Given the description of an element on the screen output the (x, y) to click on. 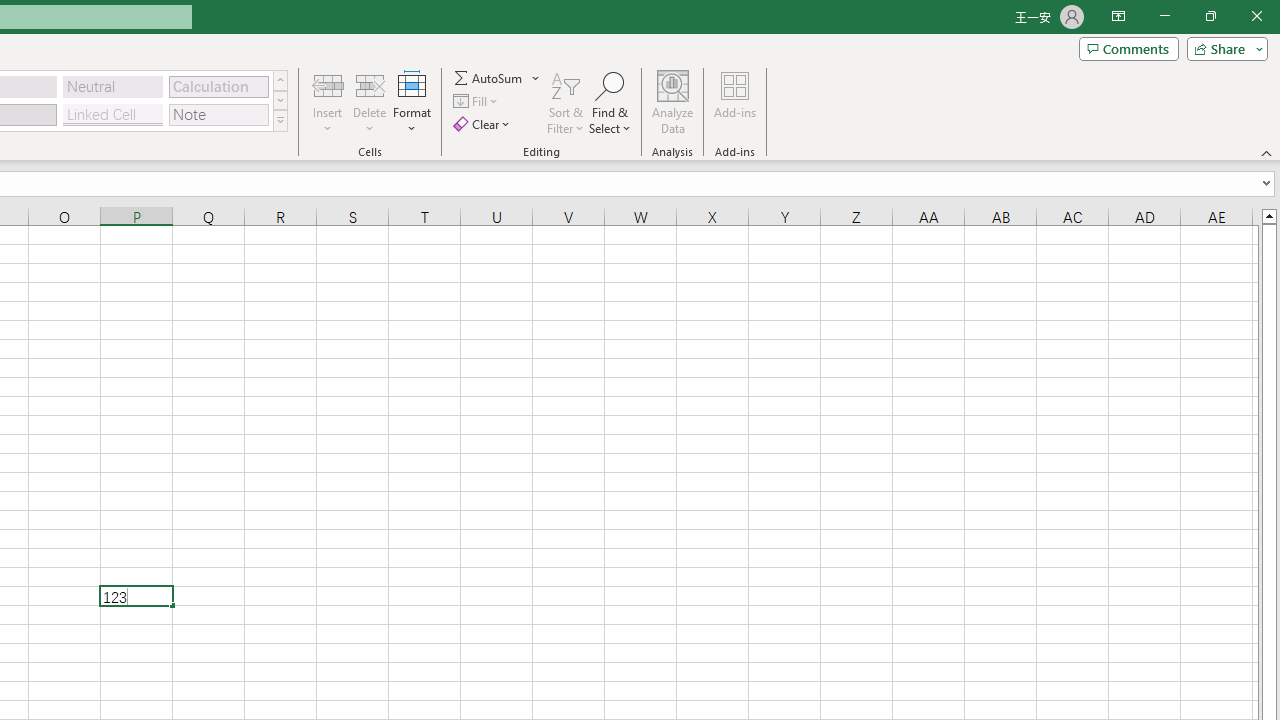
Sum (489, 78)
Delete Cells... (369, 84)
Fill (477, 101)
Linked Cell (113, 114)
Note (218, 114)
Calculation (218, 86)
Delete (369, 102)
Edit Cell (136, 596)
